Given the description of an element on the screen output the (x, y) to click on. 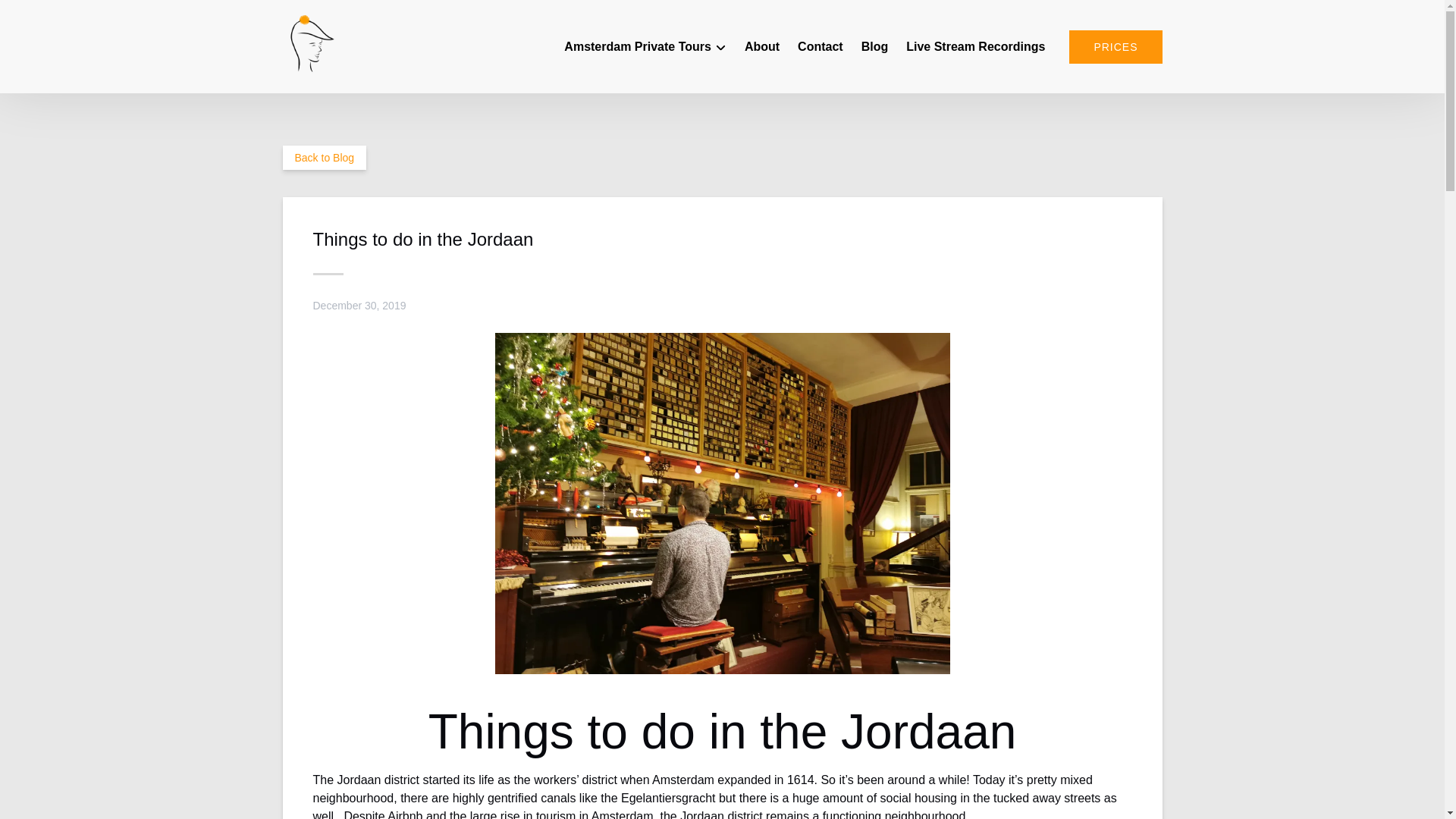
Skip to content (47, 16)
Live Stream Recordings (975, 46)
About (762, 46)
Contact (820, 46)
Open Amsterdam Private Tours Menu (646, 37)
Click here to return to Blog (324, 157)
Back to Blog (324, 157)
Skip to primary navigation (77, 16)
Amsterdam Private Tours (644, 46)
Skip to footer (42, 16)
Blog (874, 46)
PRICES (1114, 46)
